Given the description of an element on the screen output the (x, y) to click on. 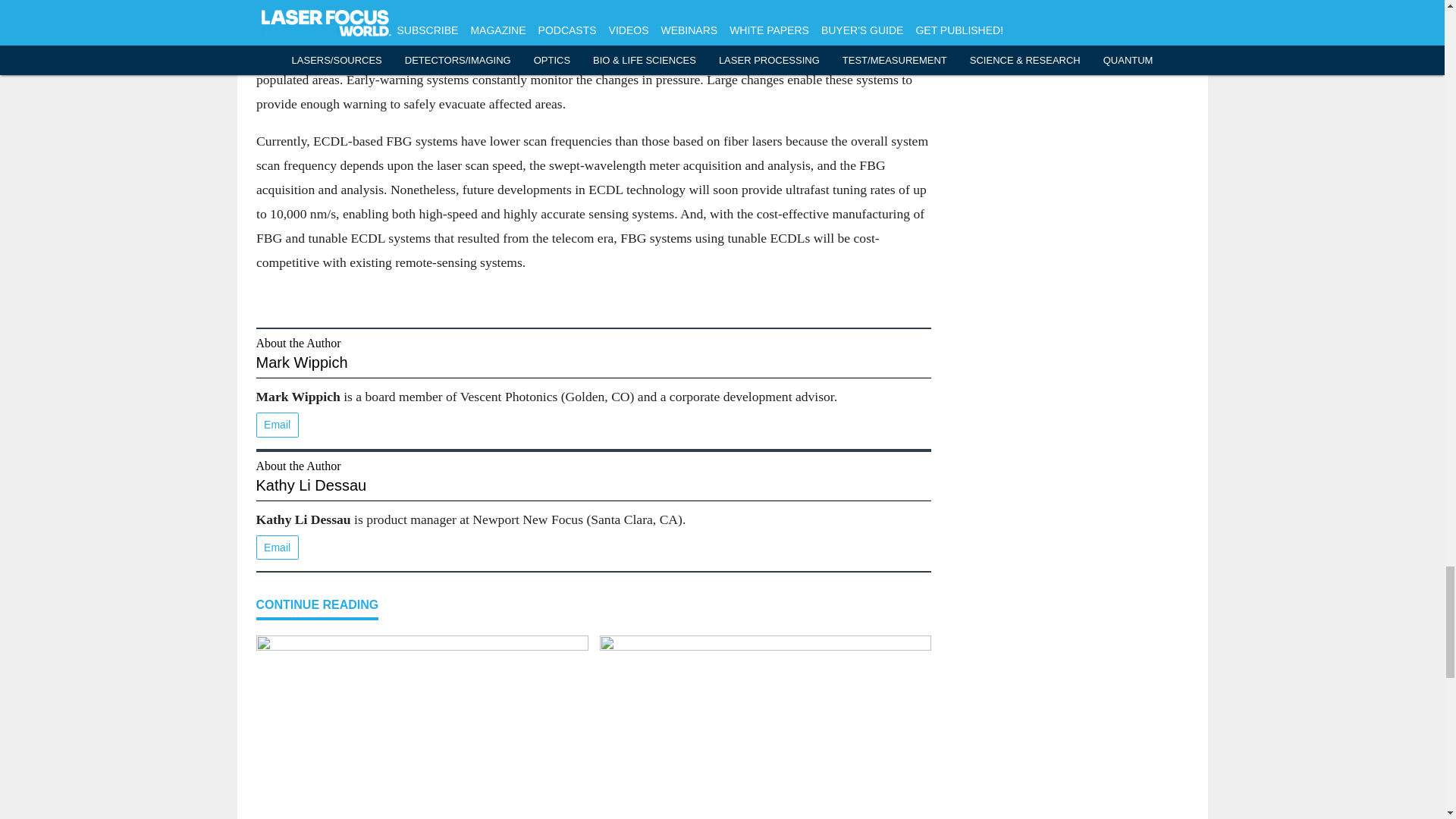
Email (277, 547)
Email (277, 424)
